Given the description of an element on the screen output the (x, y) to click on. 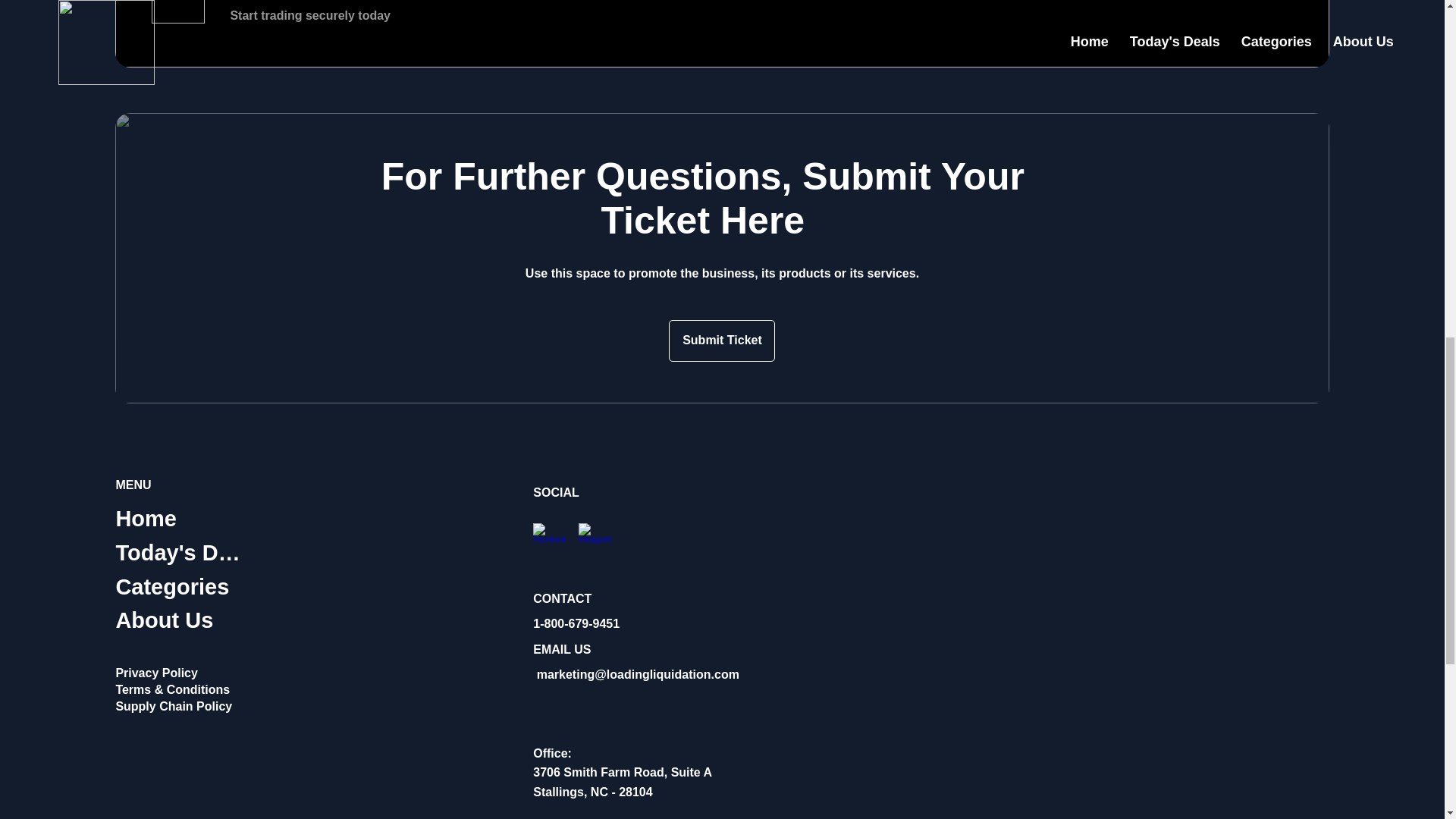
Privacy Policy (156, 672)
About Us (181, 620)
Today's Deals (181, 553)
Categories (181, 587)
Submit Ticket (721, 340)
Home (181, 519)
Supply Chain Policy (173, 706)
